Given the description of an element on the screen output the (x, y) to click on. 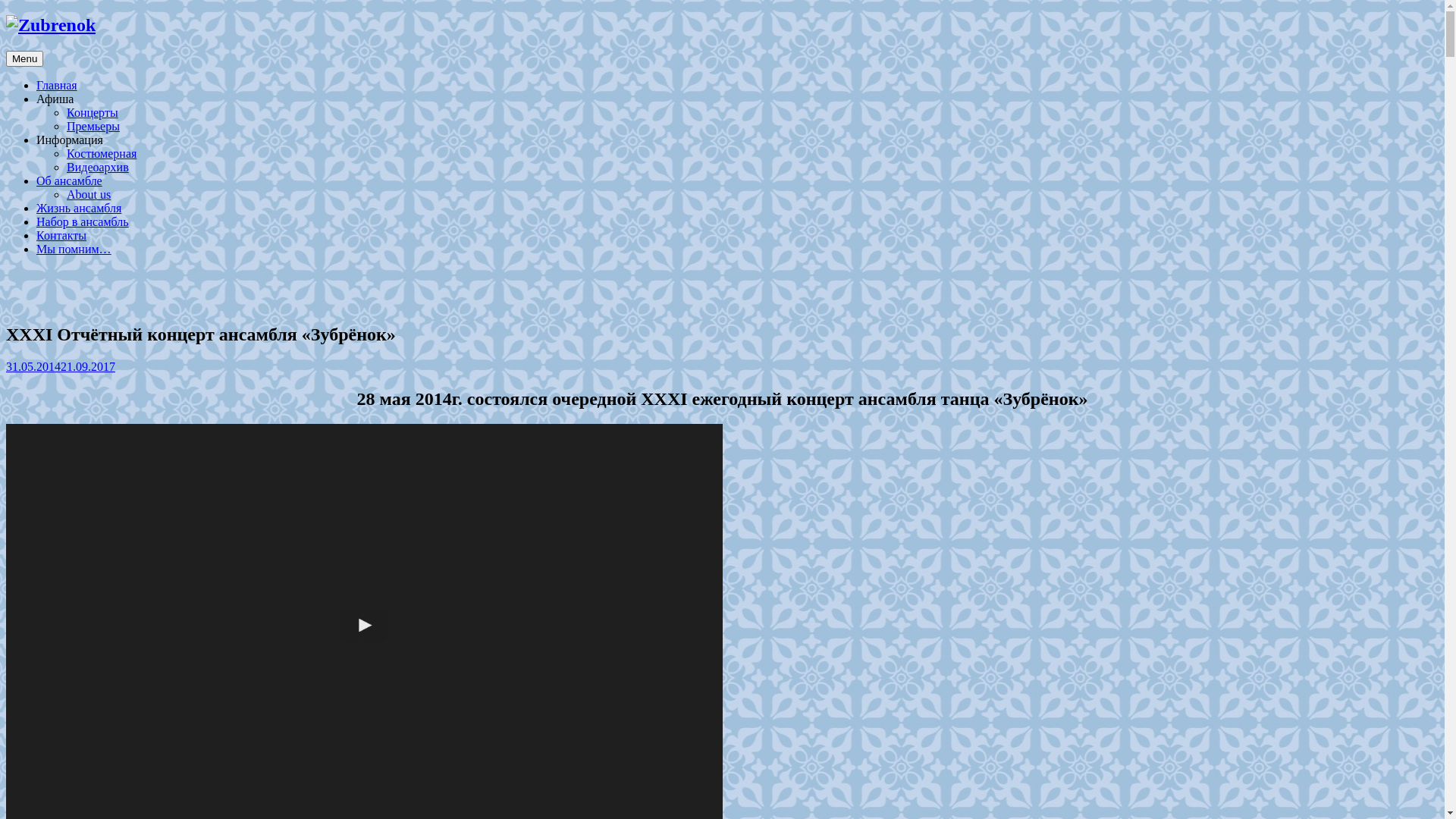
Skip to content Element type: text (5, 14)
Menu Element type: text (24, 58)
31.05.201421.09.2017 Element type: text (60, 366)
About us Element type: text (88, 194)
